Given the description of an element on the screen output the (x, y) to click on. 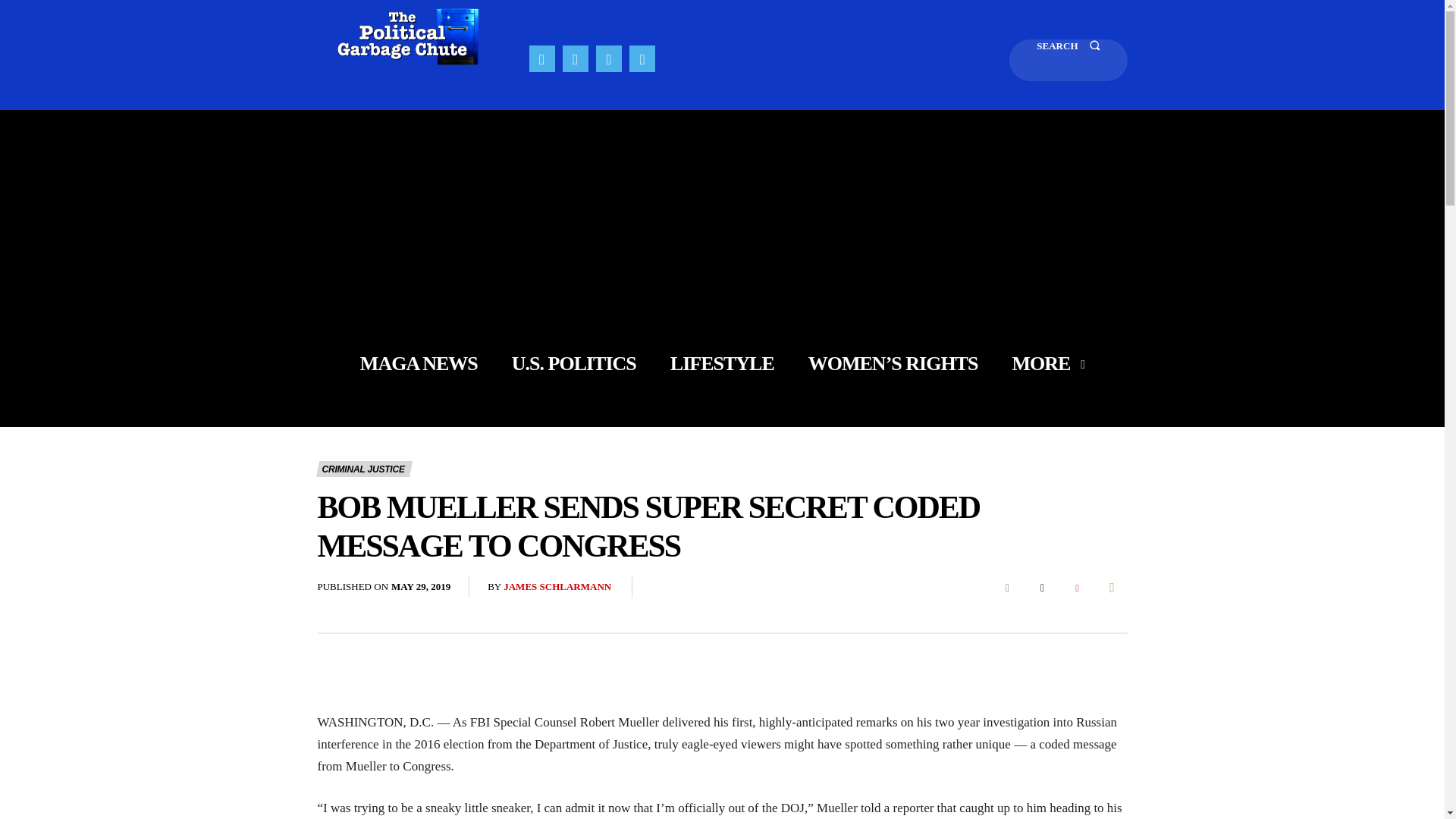
Twitter (641, 58)
Search (1067, 60)
JAMES SCHLARMANN (557, 586)
SEARCH (1067, 60)
LIFESTYLE (721, 363)
U.S. POLITICS (574, 363)
Twitter (1041, 587)
Pinterest (1076, 587)
Facebook (1006, 587)
WhatsApp (1111, 587)
MAGA NEWS (418, 363)
Instagram (575, 58)
TikTok (608, 58)
CRIMINAL JUSTICE (363, 468)
